Given the description of an element on the screen output the (x, y) to click on. 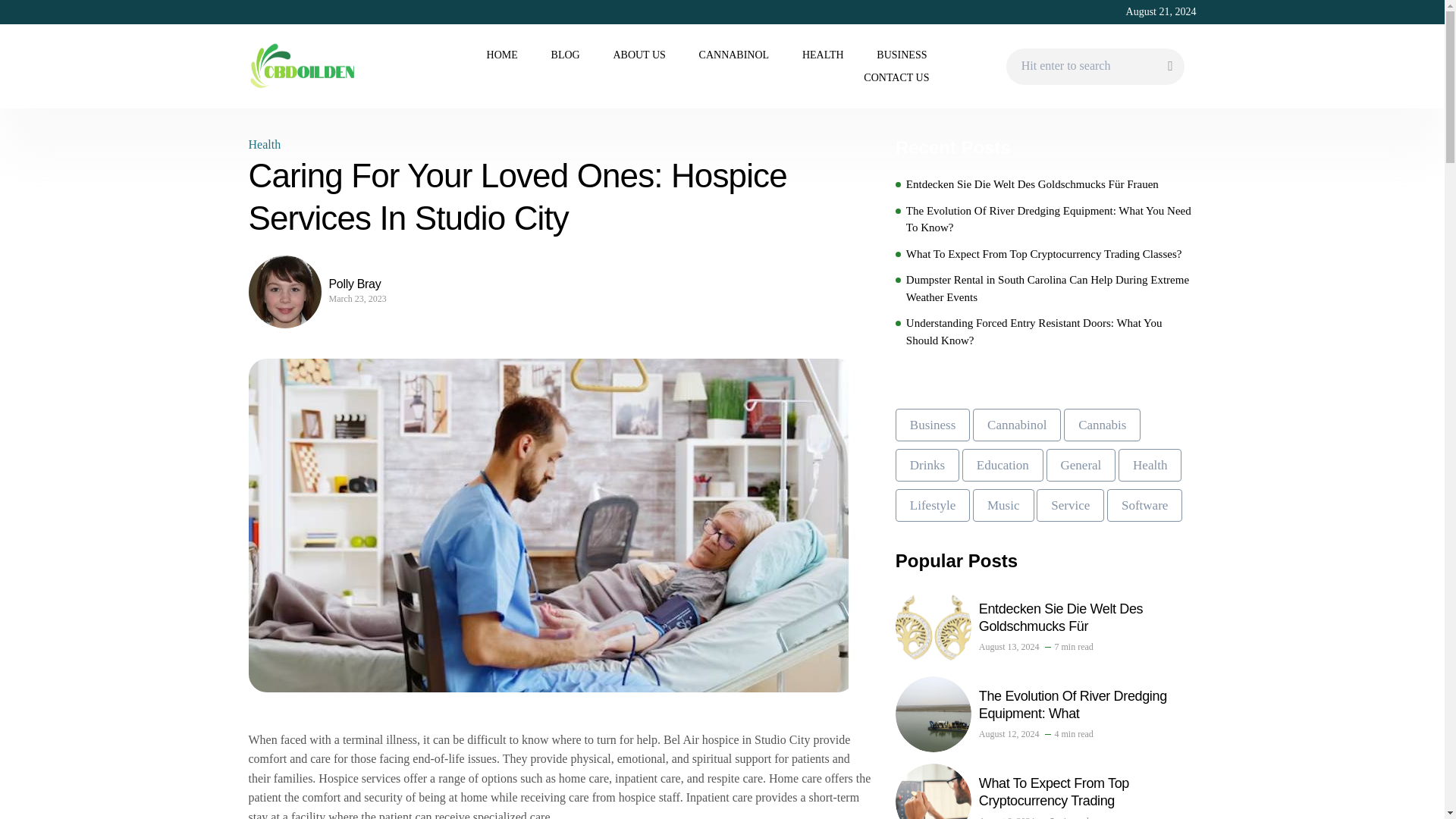
CANNABINOL (734, 55)
HEALTH (823, 55)
General (1081, 464)
Health (264, 144)
CONTACT US (895, 77)
Polly Bray (363, 284)
Health (1149, 464)
Business (932, 424)
Cannabinol (1016, 424)
